Given the description of an element on the screen output the (x, y) to click on. 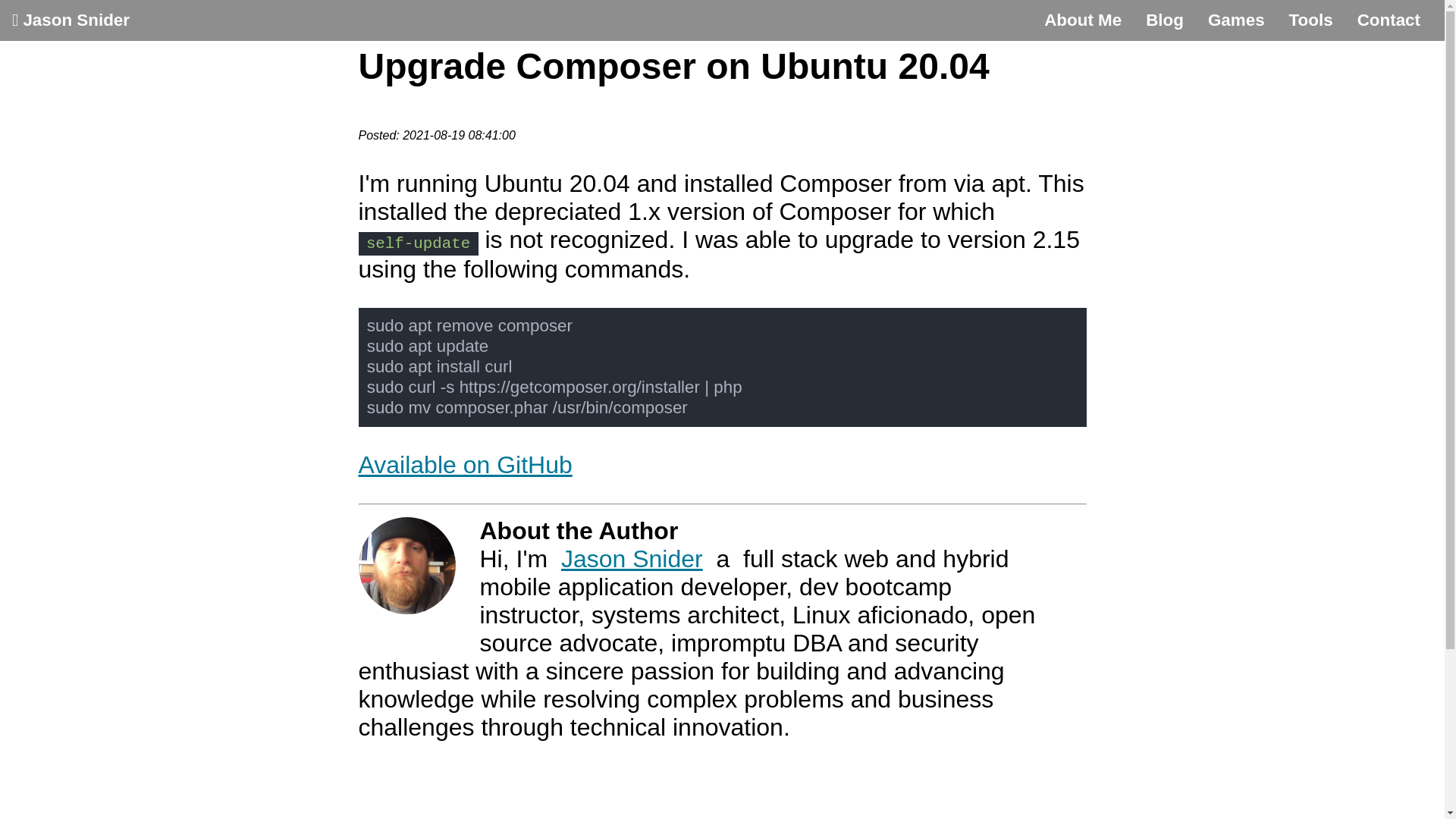
About Me (1083, 20)
Available on GitHub (465, 464)
Tools (1310, 20)
Games (1235, 20)
Blog (1164, 20)
 Jason Snider (70, 20)
Contact (1388, 20)
Jason Snider (631, 558)
